Given the description of an element on the screen output the (x, y) to click on. 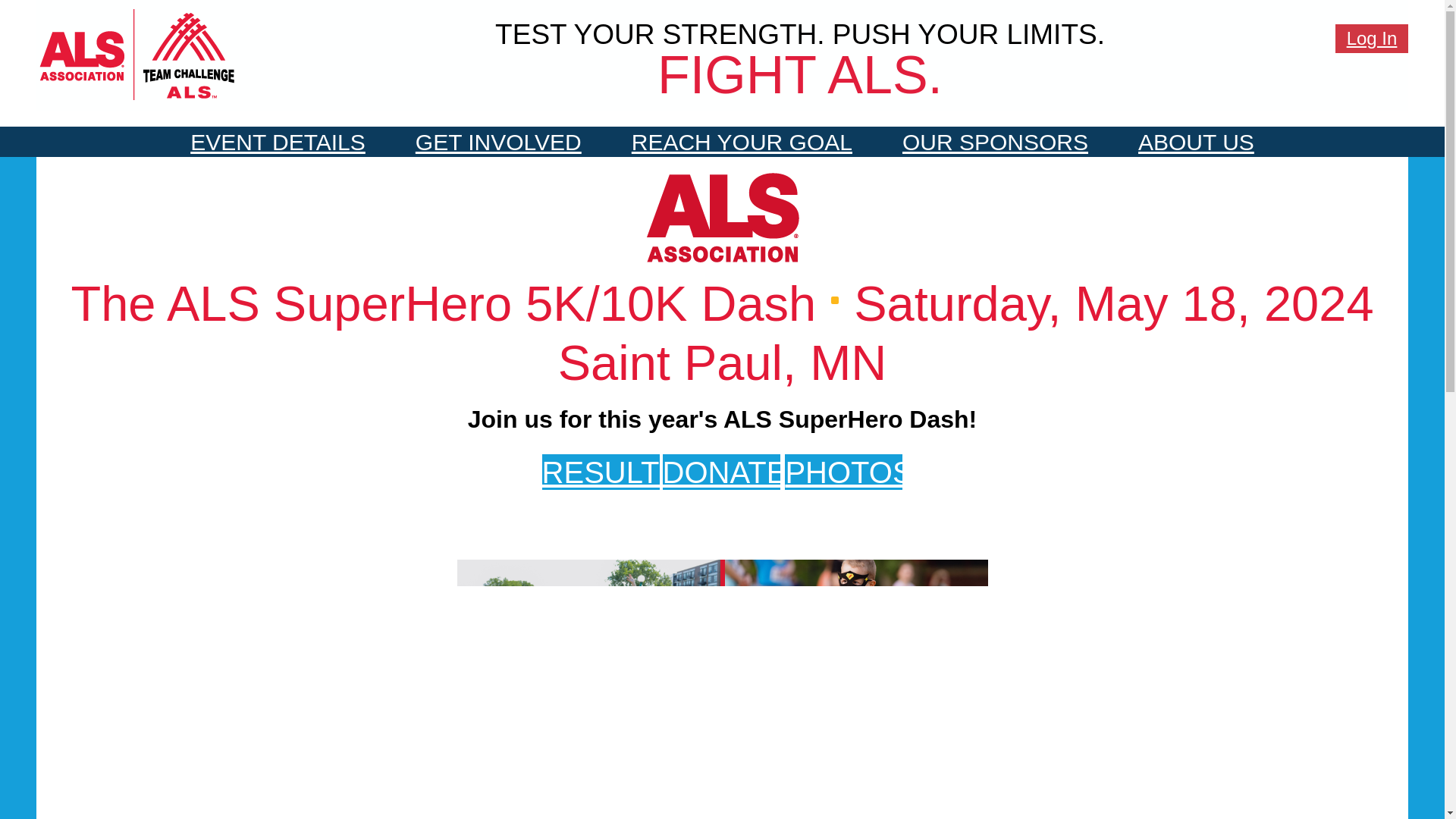
Log In (1372, 38)
